Given the description of an element on the screen output the (x, y) to click on. 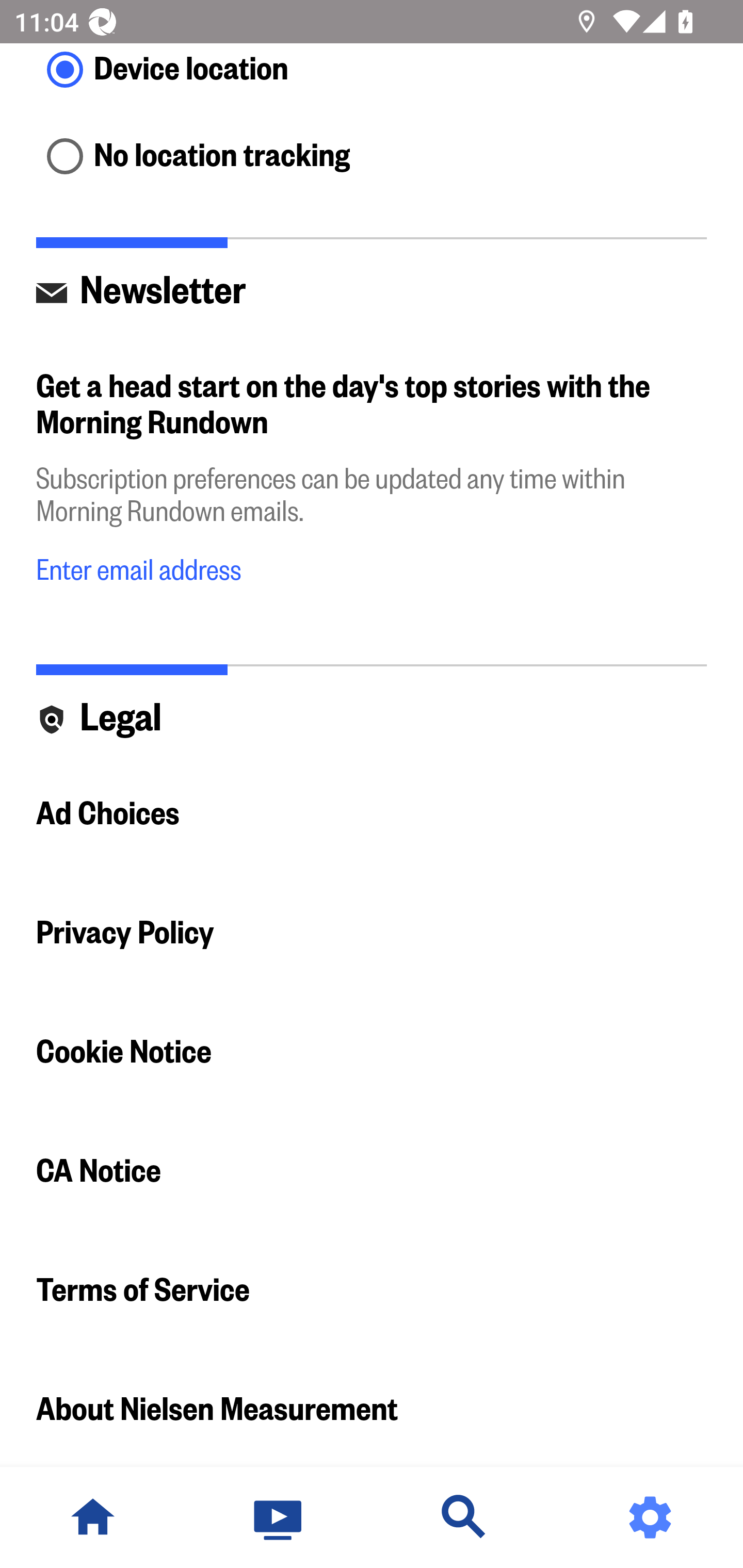
Device location (371, 71)
No location tracking (371, 157)
Ad Choices (371, 813)
Privacy Policy (371, 932)
Cookie Notice (371, 1051)
CA Notice (371, 1170)
Terms of Service (371, 1290)
About Nielsen Measurement (371, 1408)
NBC News Home (92, 1517)
Watch (278, 1517)
Discover (464, 1517)
